Given the description of an element on the screen output the (x, y) to click on. 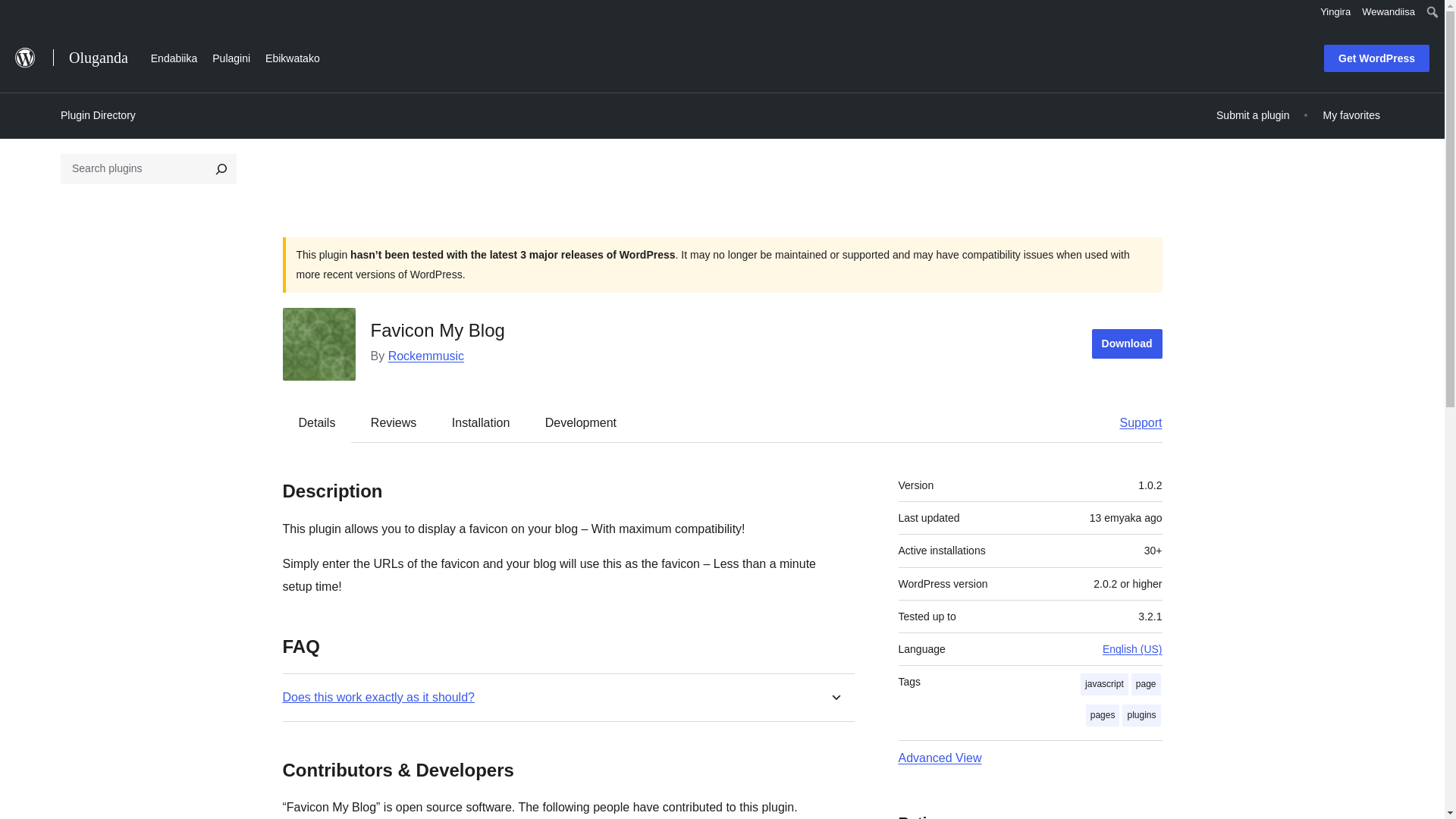
Wewandiisa (1388, 12)
Rockemmusic (426, 355)
Ebikwatako (292, 56)
Plugin Directory (97, 115)
page (1145, 684)
Endabiika (173, 56)
Noonya (18, 13)
Does this work exactly as it should? (378, 697)
javascript (1104, 684)
Development (580, 422)
